Given the description of an element on the screen output the (x, y) to click on. 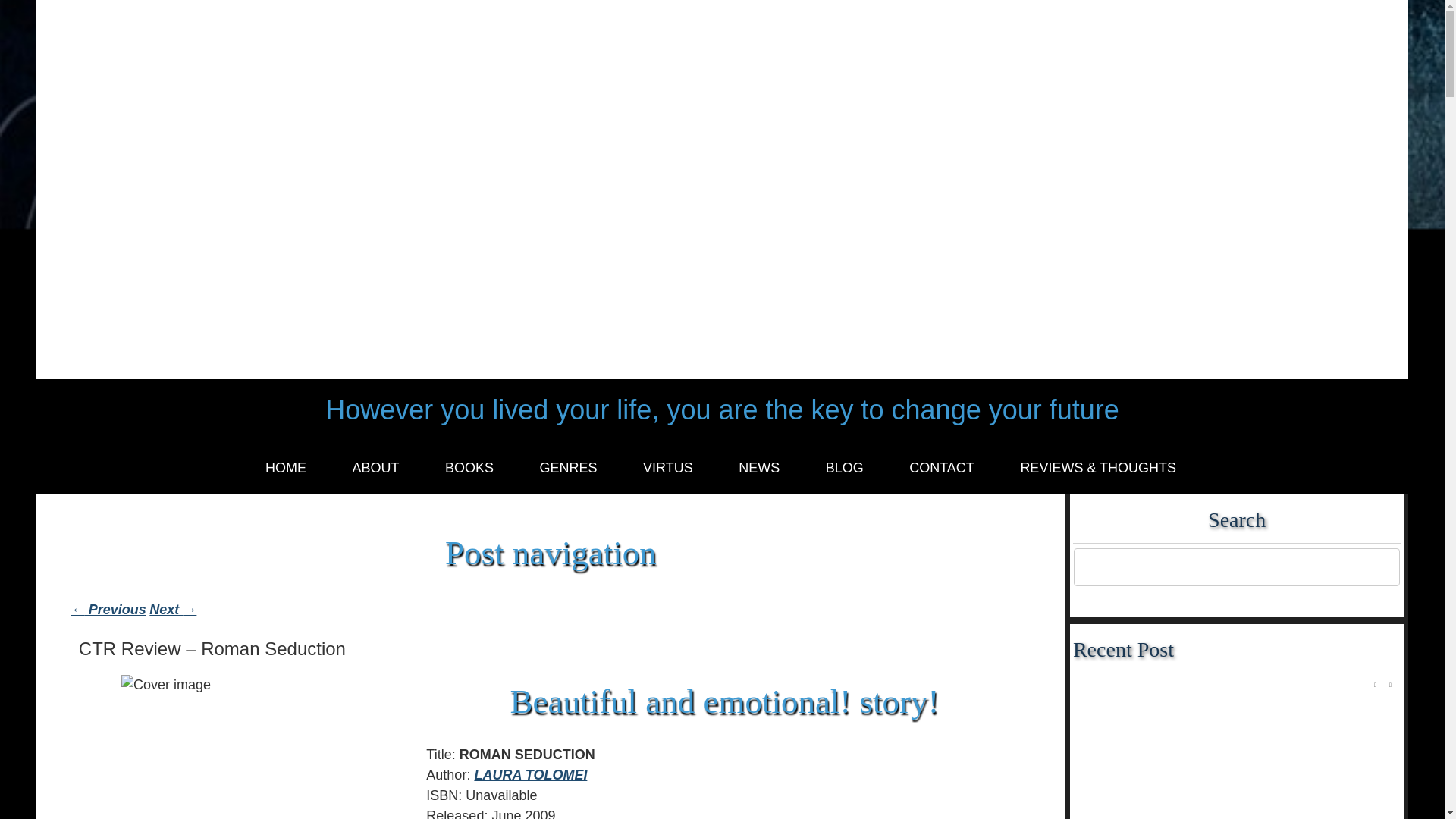
Previous (1374, 685)
CONTACT (941, 468)
BOOKS (468, 468)
Next (1389, 685)
ABOUT (374, 468)
